Given the description of an element on the screen output the (x, y) to click on. 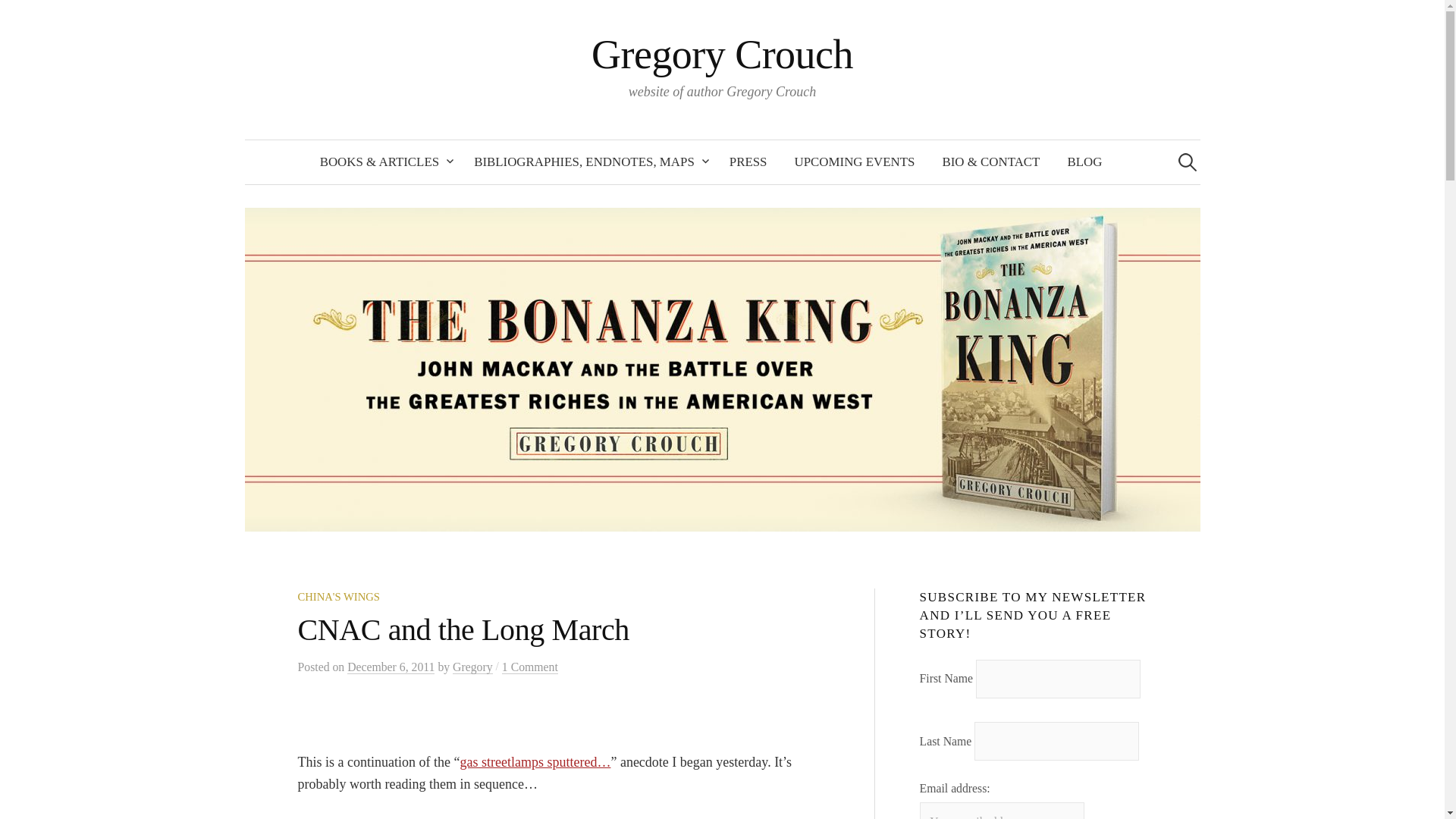
UPCOMING EVENTS (854, 162)
Gregory (472, 667)
1 Comment (529, 667)
PRESS (748, 162)
CHINA'S WINGS (337, 596)
Gregory Crouch (722, 53)
View all posts by Gregory (472, 667)
BIBLIOGRAPHIES, ENDNOTES, MAPS (588, 162)
December 6, 2011 (390, 667)
Search (18, 18)
BLOG (1083, 162)
